Given the description of an element on the screen output the (x, y) to click on. 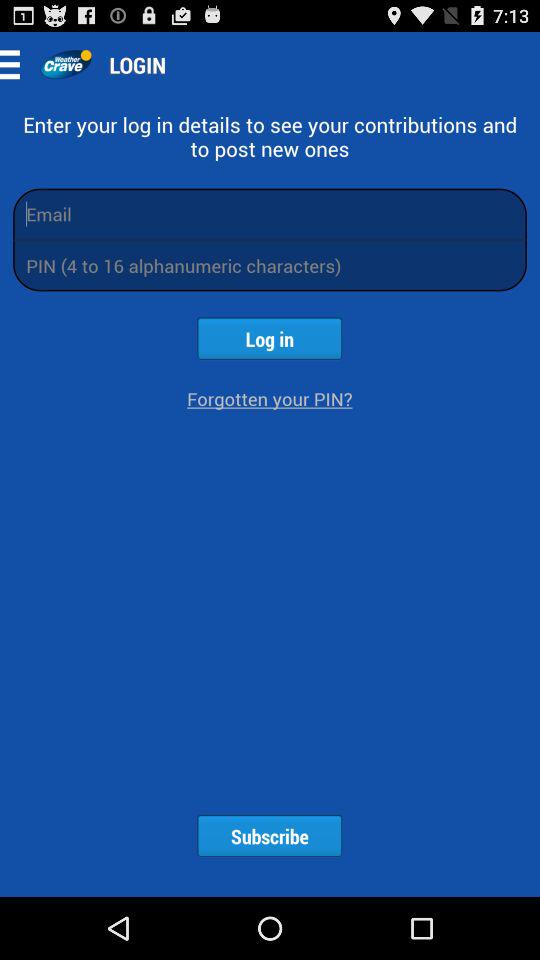
open the item at the bottom (269, 835)
